Given the description of an element on the screen output the (x, y) to click on. 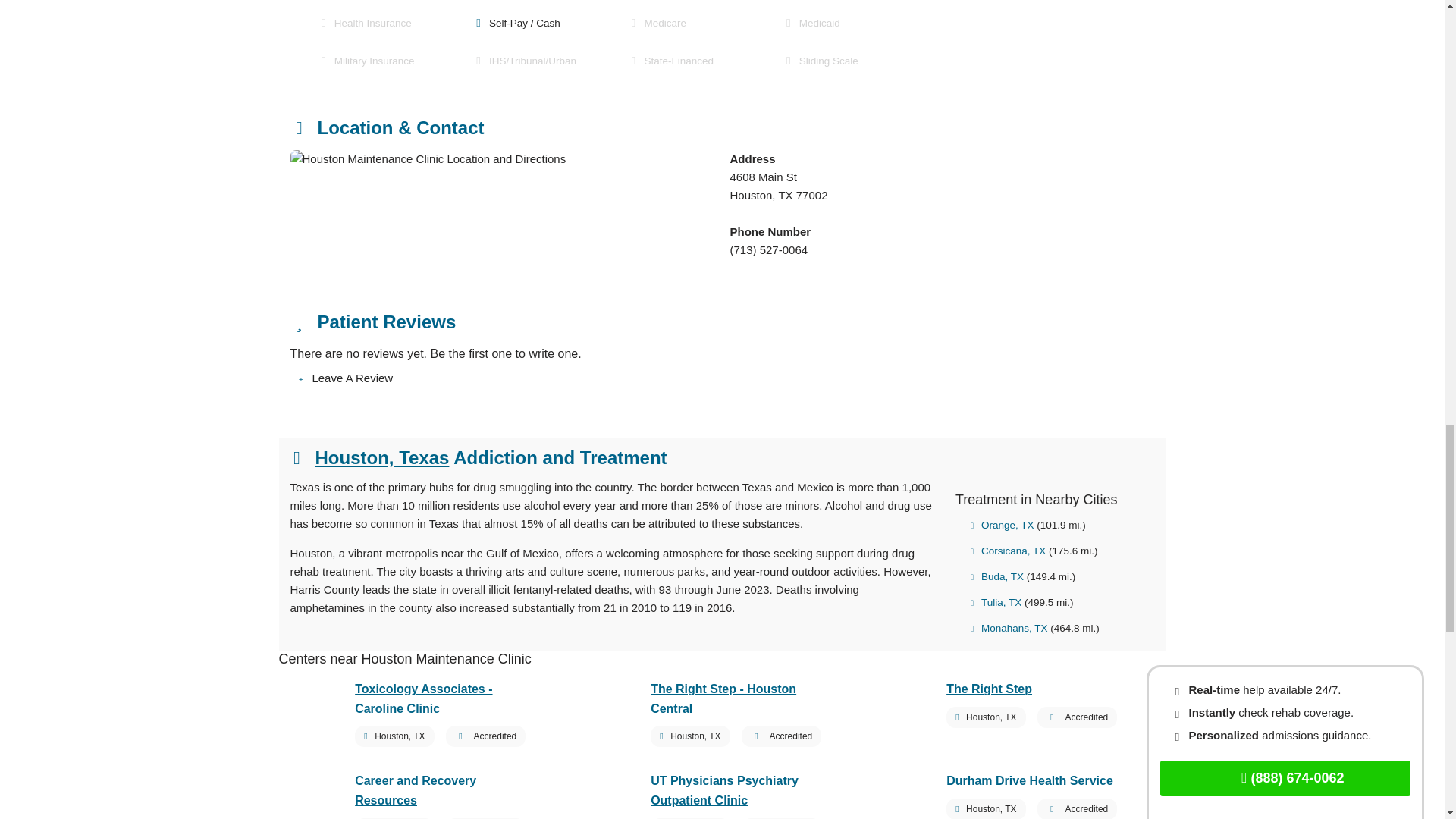
Rehab Now in Buda, TX (997, 576)
In Corsicana, Texas and Need Drug or Alcohol Treatment? (1008, 550)
Orange Drug Rehab and Nearby Alcohol Rehabs in Orange, TX (1002, 524)
Drug Rehab Centers in Monahans, Texas (1009, 627)
Rehab Now in Tulia, TX (996, 602)
